Given the description of an element on the screen output the (x, y) to click on. 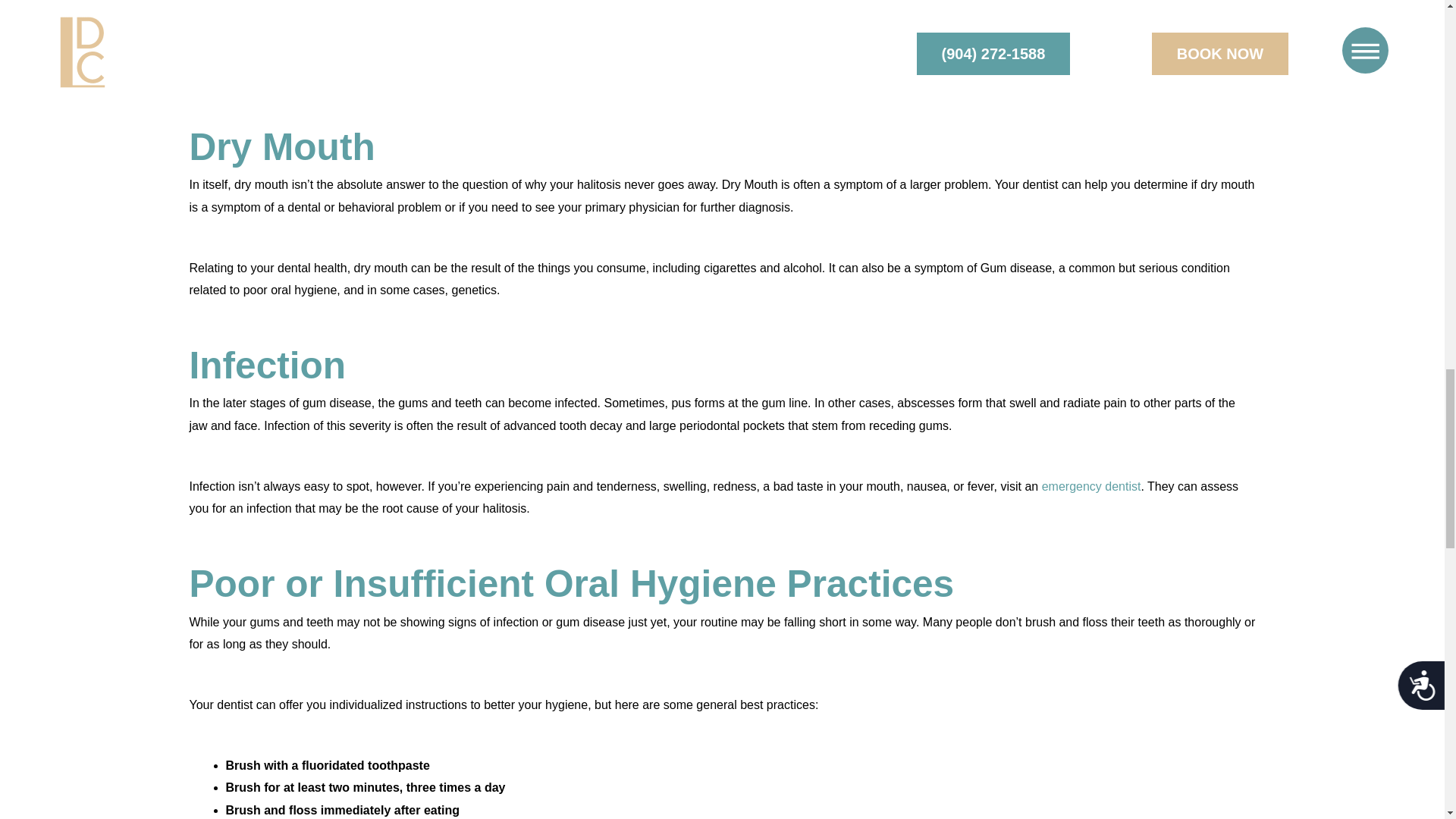
emergency dentist (1091, 486)
